Given the description of an element on the screen output the (x, y) to click on. 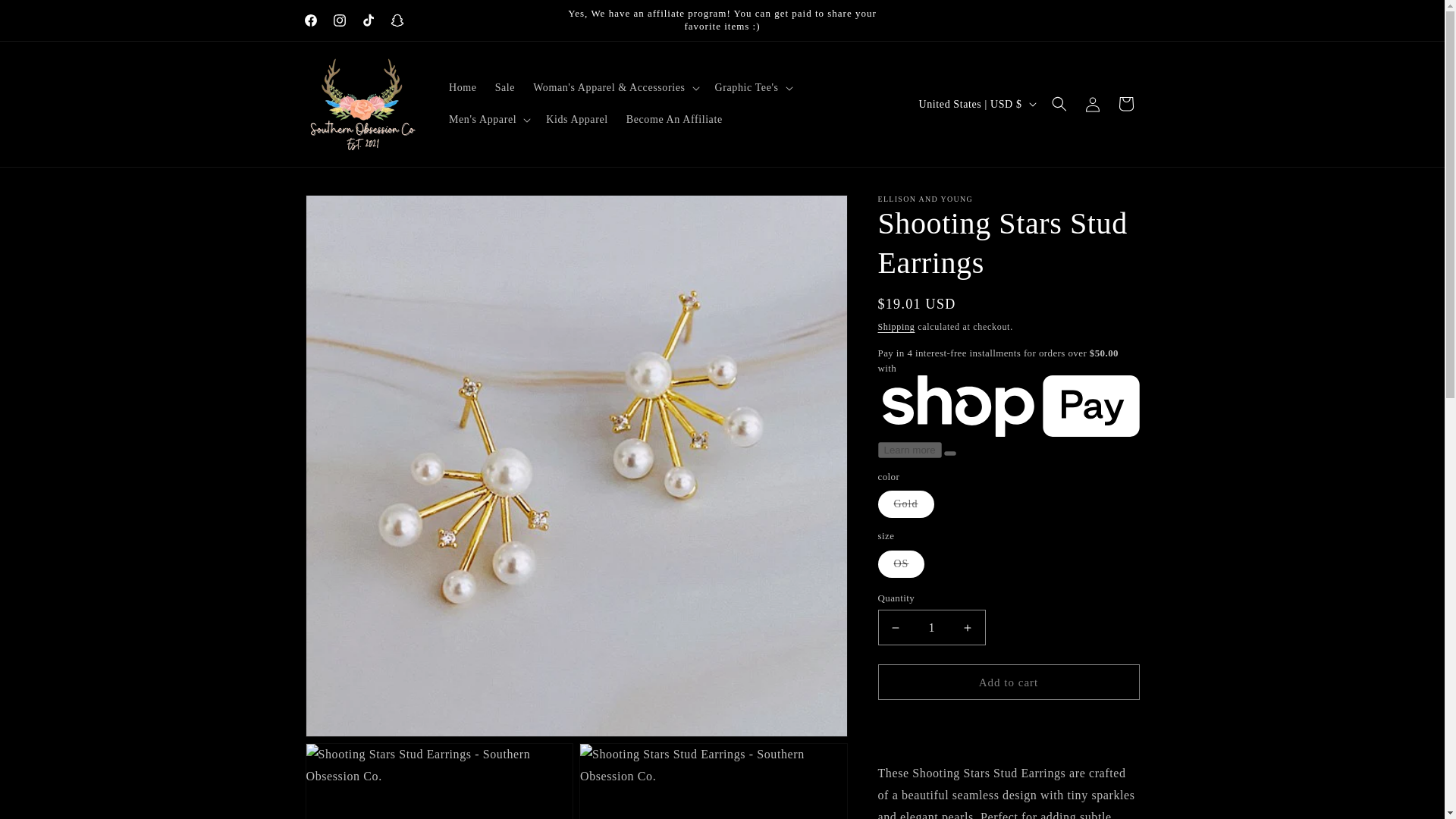
Instagram (338, 20)
1 (931, 627)
TikTok (367, 20)
Skip to content (45, 17)
Snapchat (395, 20)
Facebook (309, 20)
